Given the description of an element on the screen output the (x, y) to click on. 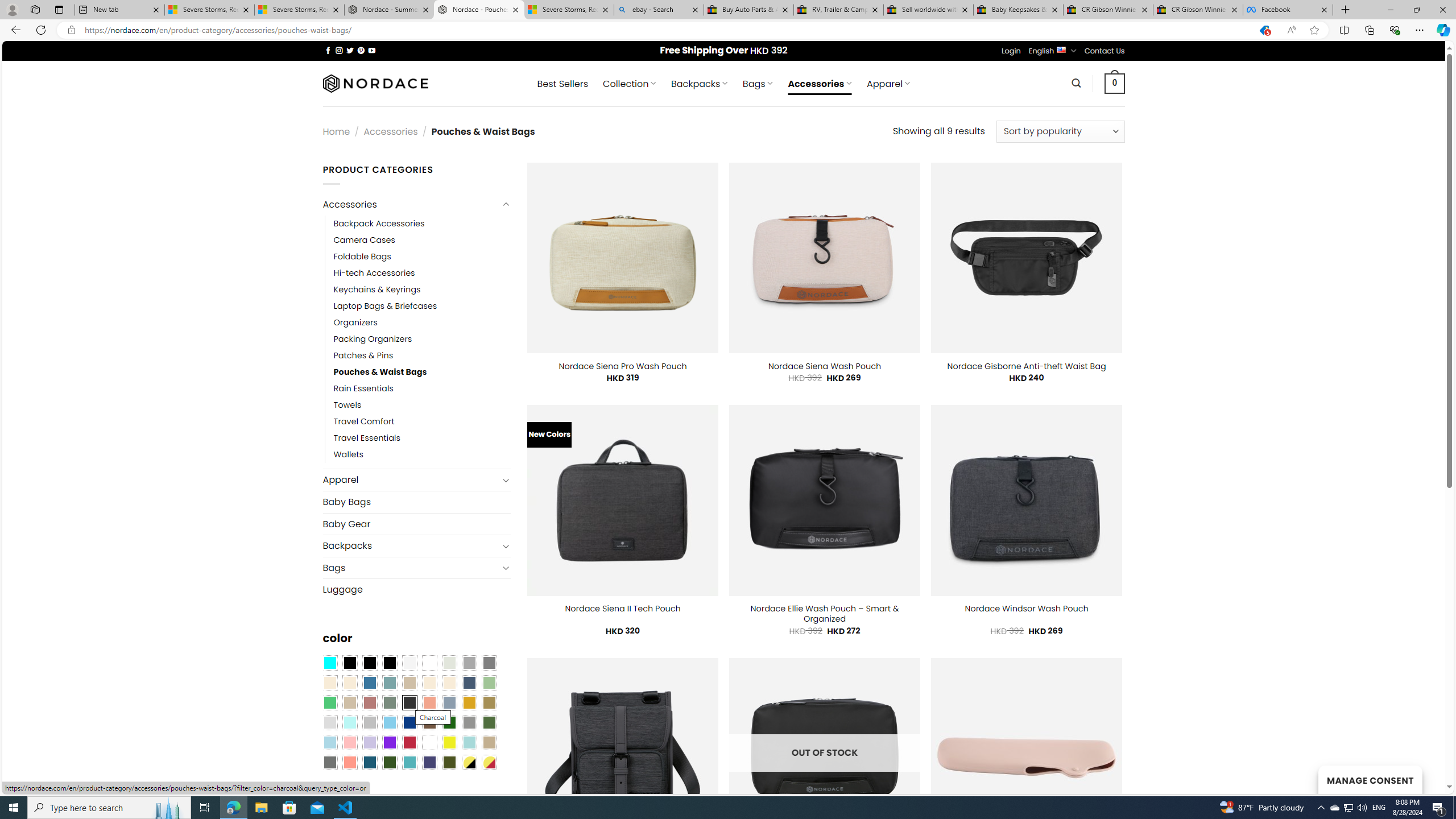
Patches & Pins (363, 355)
Yellow-Red (488, 762)
Follow on Pinterest (360, 49)
Hi-tech Accessories (373, 272)
Laptop Bags & Briefcases (384, 305)
Purple (389, 741)
Ash Gray (449, 662)
 0  (1115, 83)
Dark Green (449, 721)
Purple Navy (429, 762)
